Given the description of an element on the screen output the (x, y) to click on. 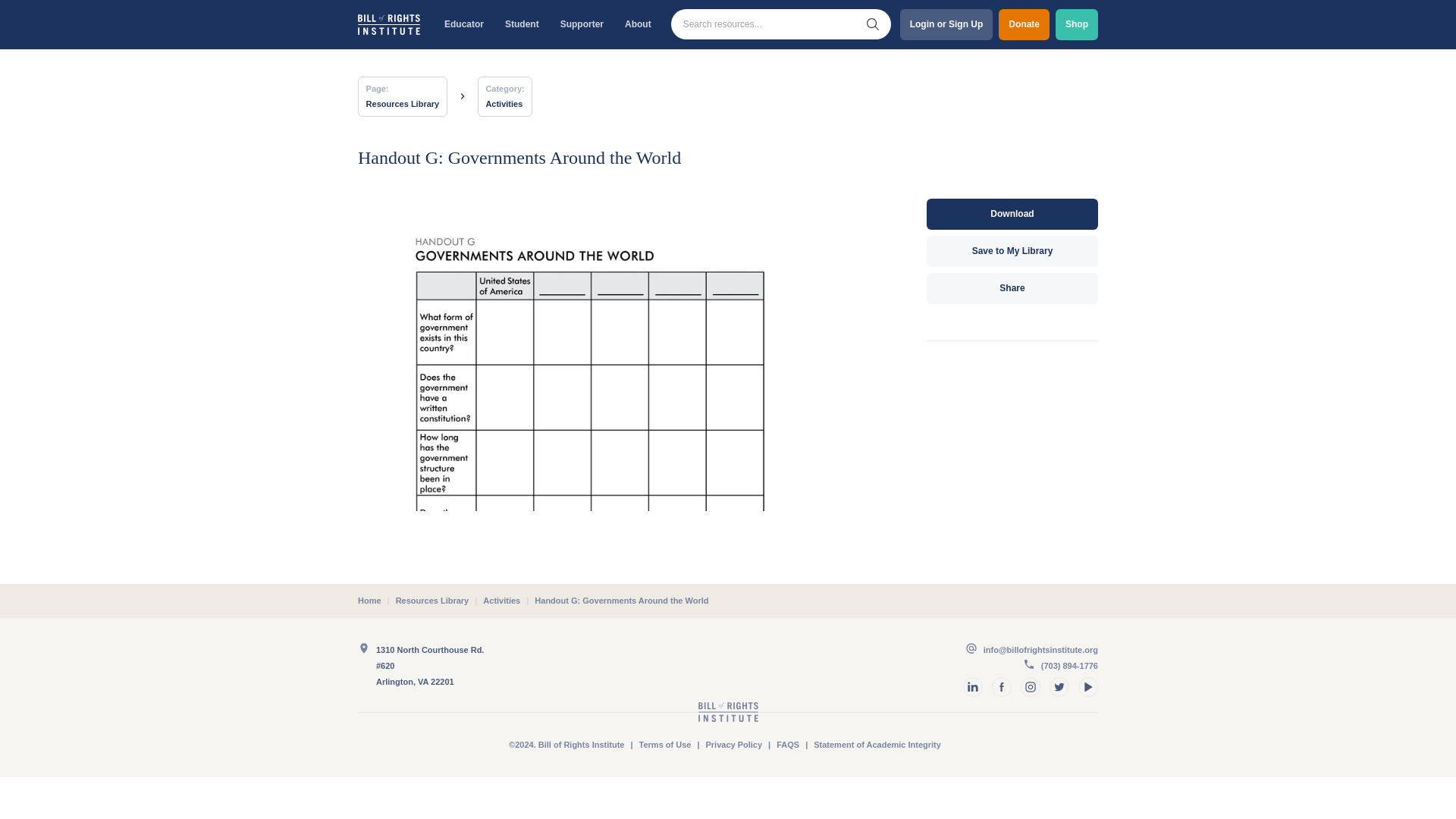
Student (521, 24)
Educator (463, 24)
Submit Search Query. (872, 24)
